Given the description of an element on the screen output the (x, y) to click on. 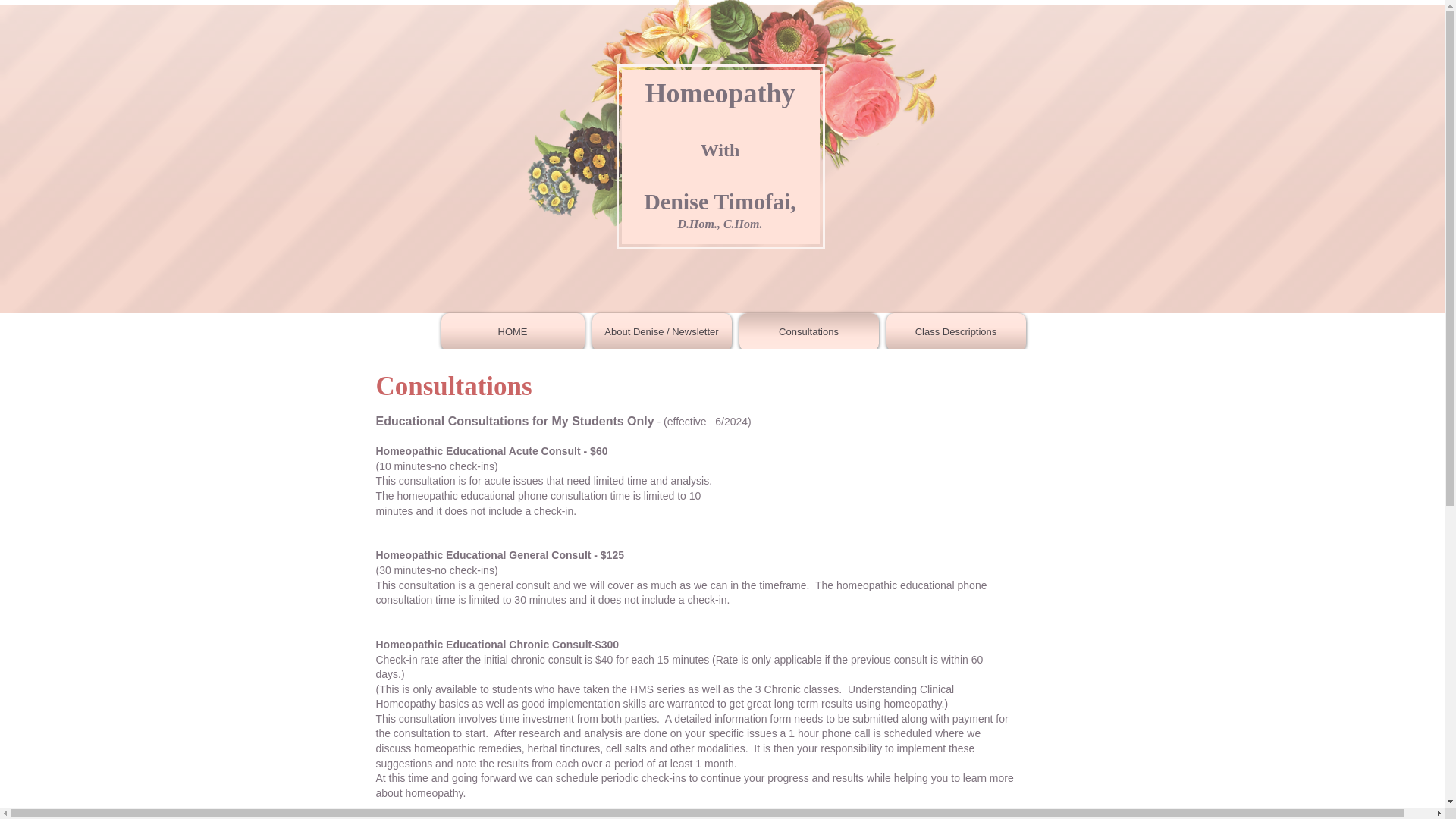
Class Descriptions (955, 331)
HOME (514, 331)
Consultations (808, 331)
